Given the description of an element on the screen output the (x, y) to click on. 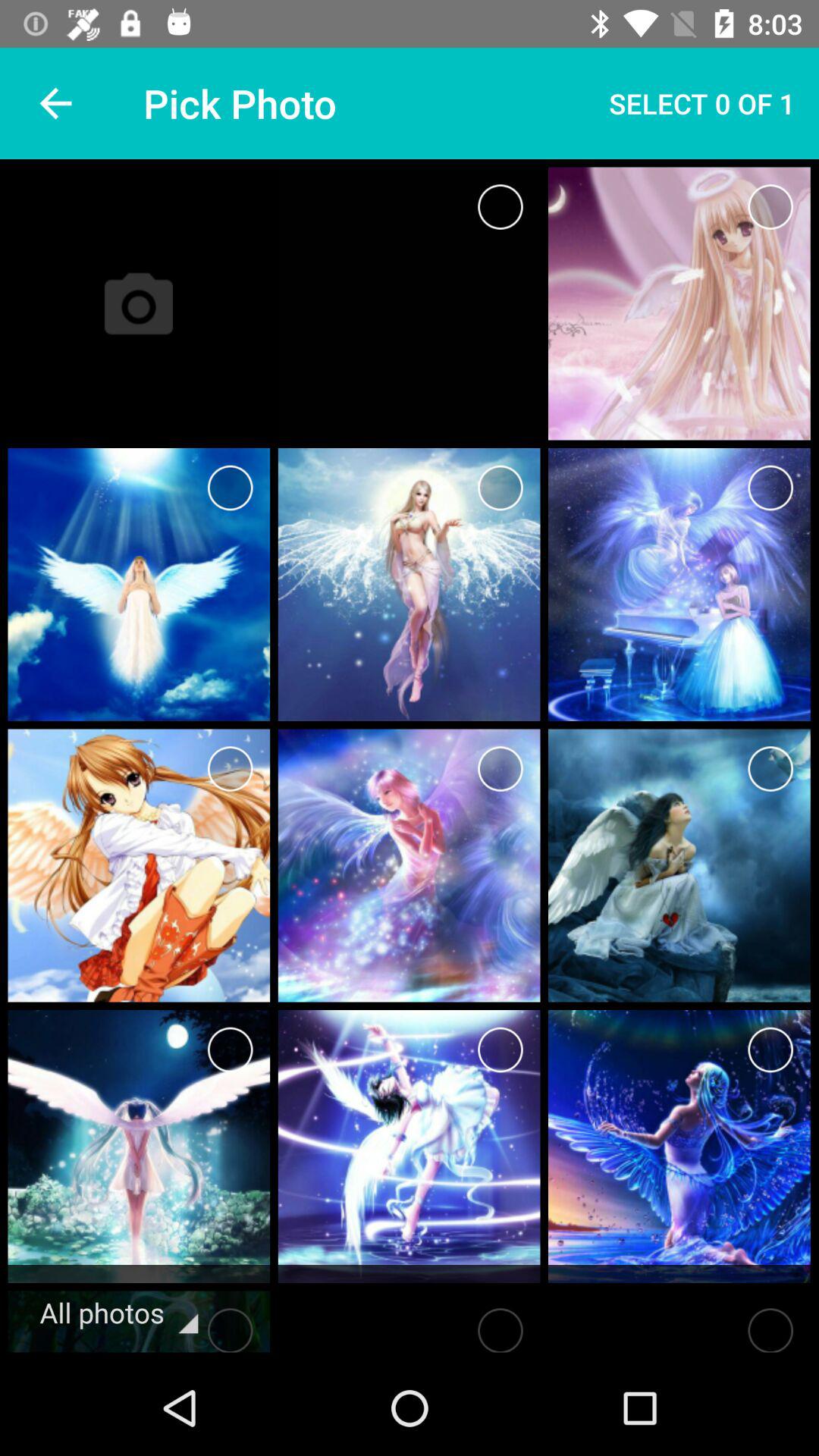
select a photo option (500, 768)
